Given the description of an element on the screen output the (x, y) to click on. 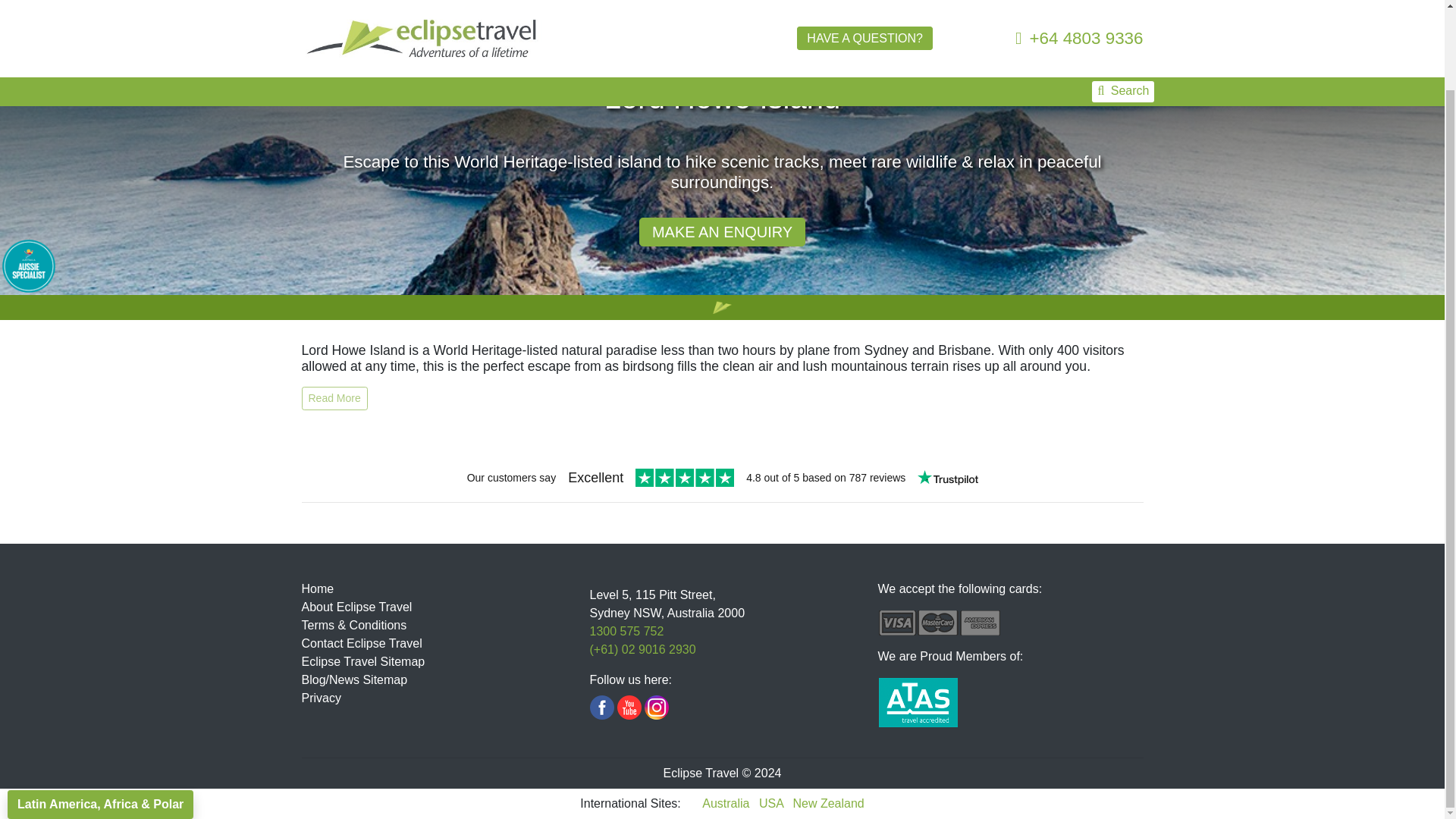
About Eclipse Travel (356, 606)
1300 575 752 (626, 631)
MAKE AN ENQUIRY (722, 231)
Eclipse Travel Sitemap (363, 661)
Customer reviews powered by Trustpilot (722, 478)
Read More (334, 398)
Privacy (320, 697)
Australia (726, 802)
Search (1123, 28)
Contact Eclipse Travel (361, 643)
